Given the description of an element on the screen output the (x, y) to click on. 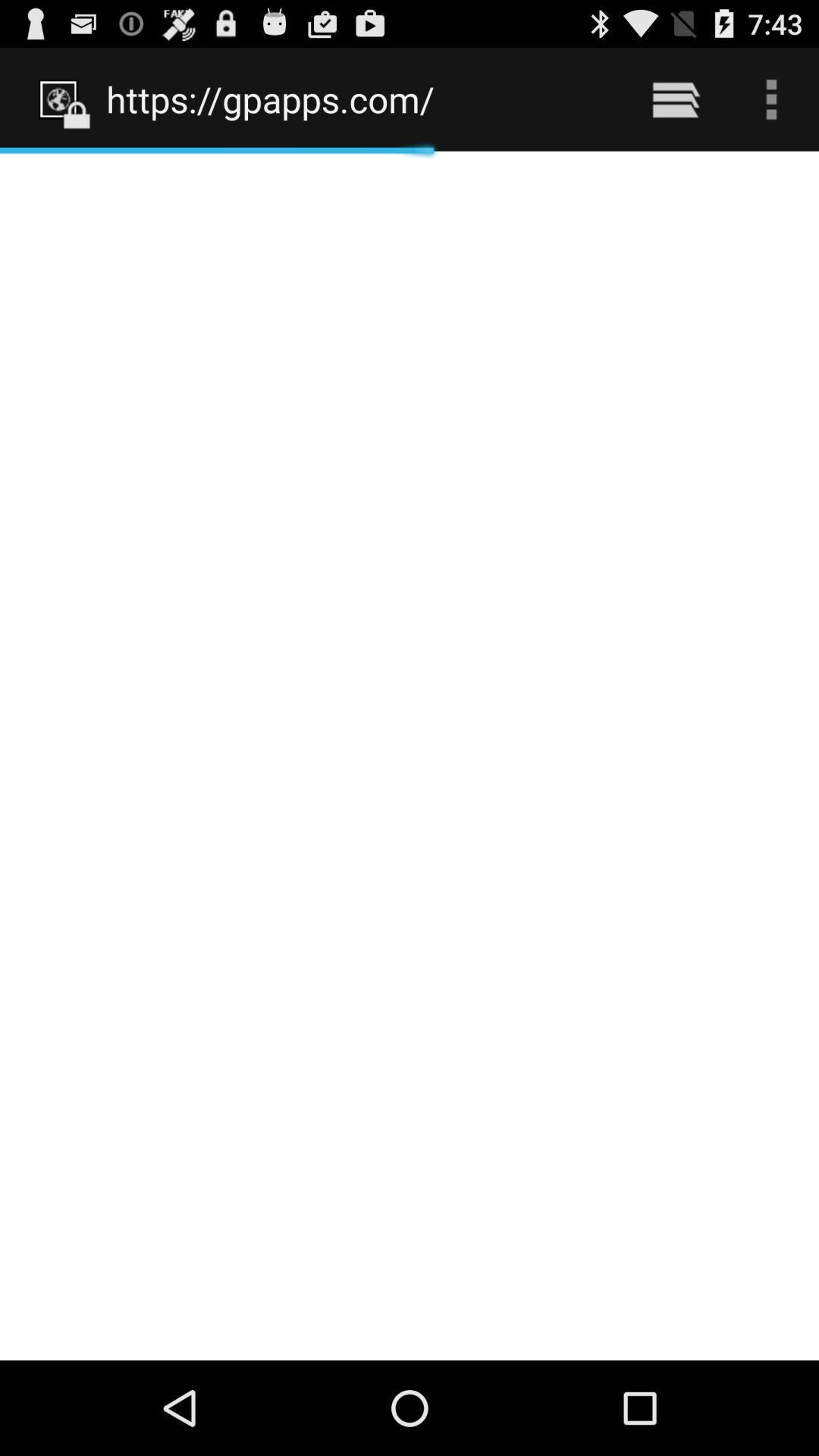
launch item at the center (409, 755)
